Given the description of an element on the screen output the (x, y) to click on. 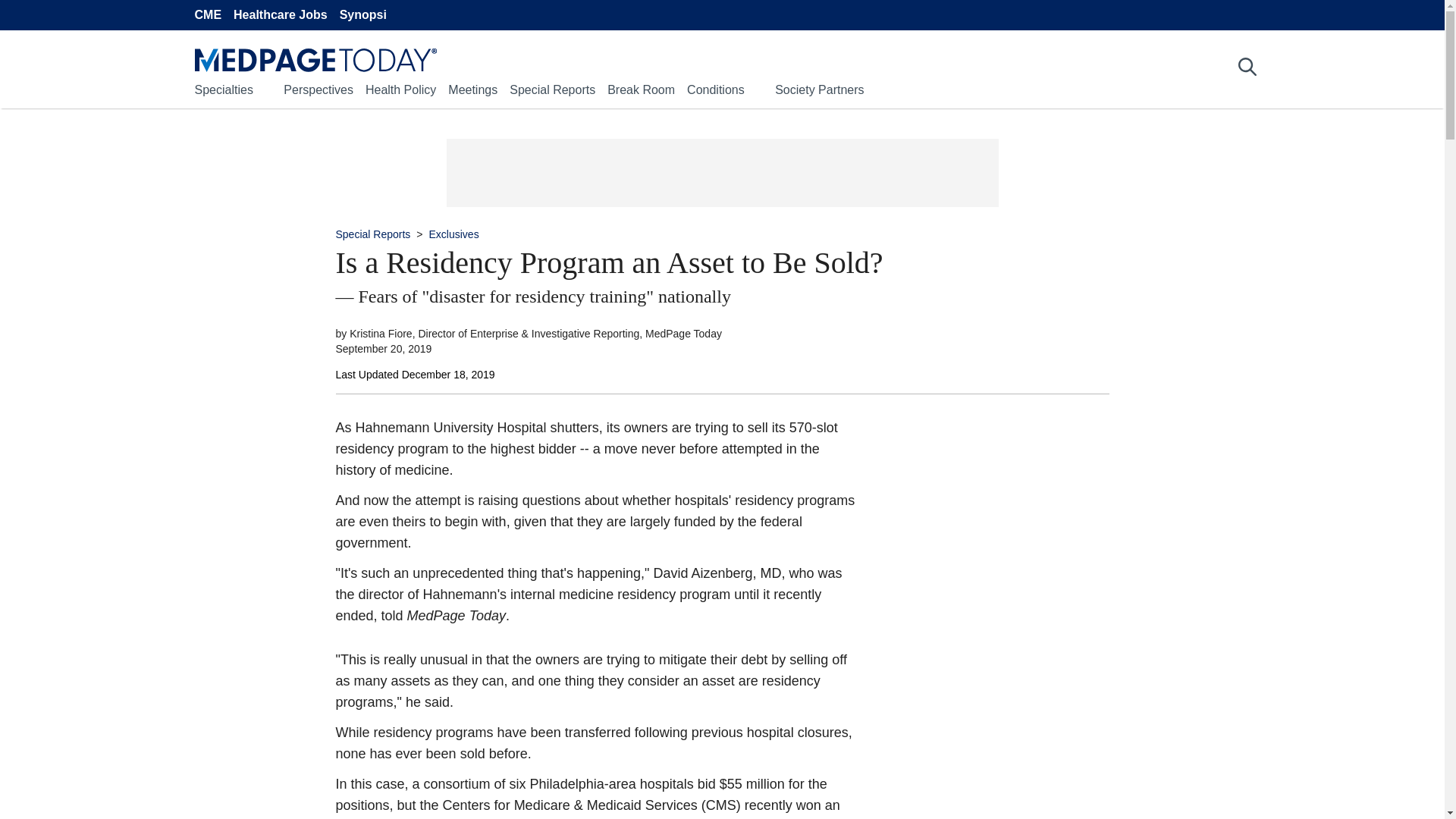
Synopsi (363, 15)
Healthcare Jobs (279, 15)
CME (207, 15)
Specialties (222, 89)
